Given the description of an element on the screen output the (x, y) to click on. 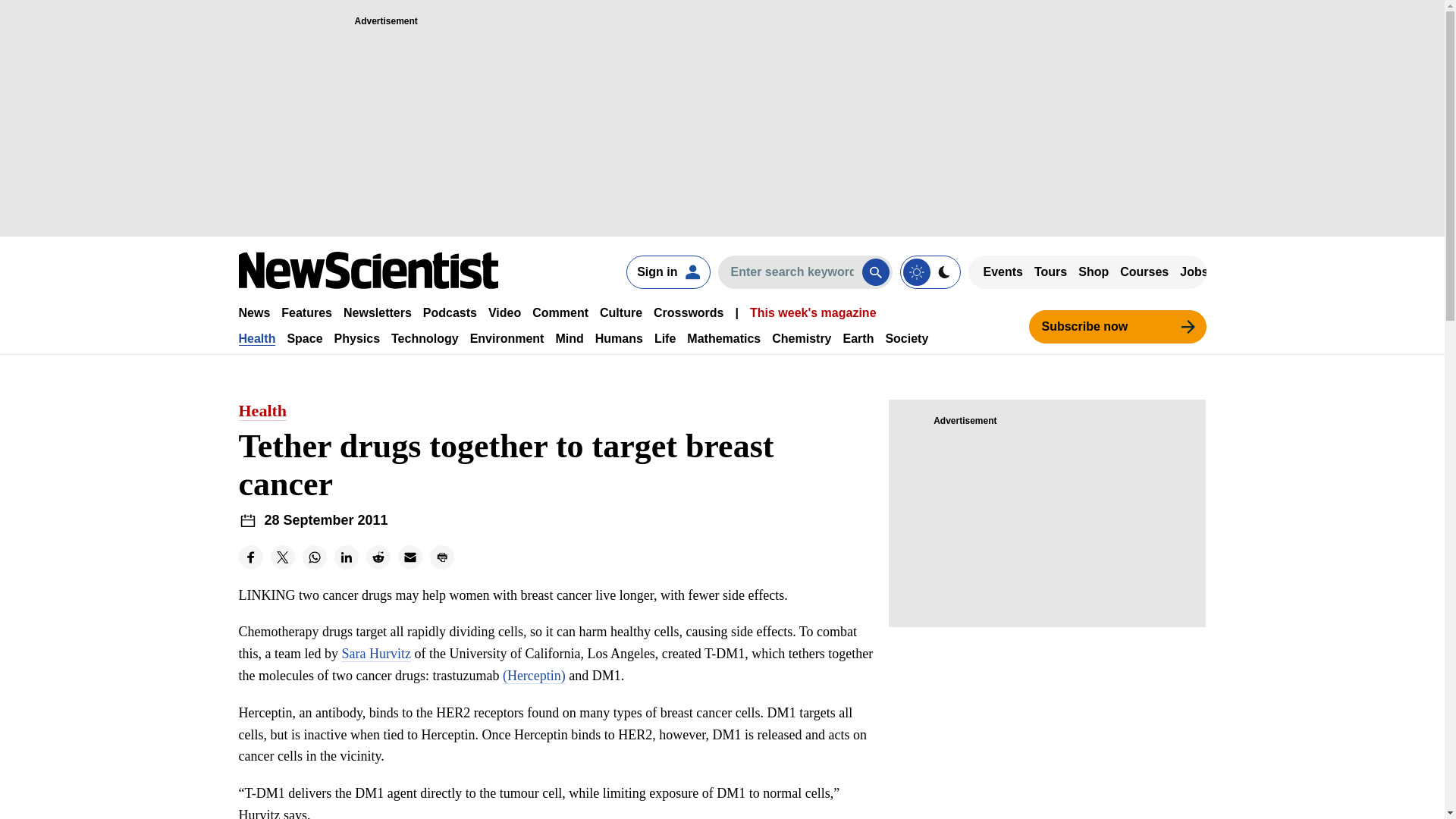
Culture (620, 313)
Subscribe now (1116, 326)
Podcasts (450, 313)
Courses (1144, 272)
Health (256, 338)
Sign in (668, 272)
Earth (859, 338)
Space (303, 338)
Events (1002, 272)
Mind (568, 338)
